Given the description of an element on the screen output the (x, y) to click on. 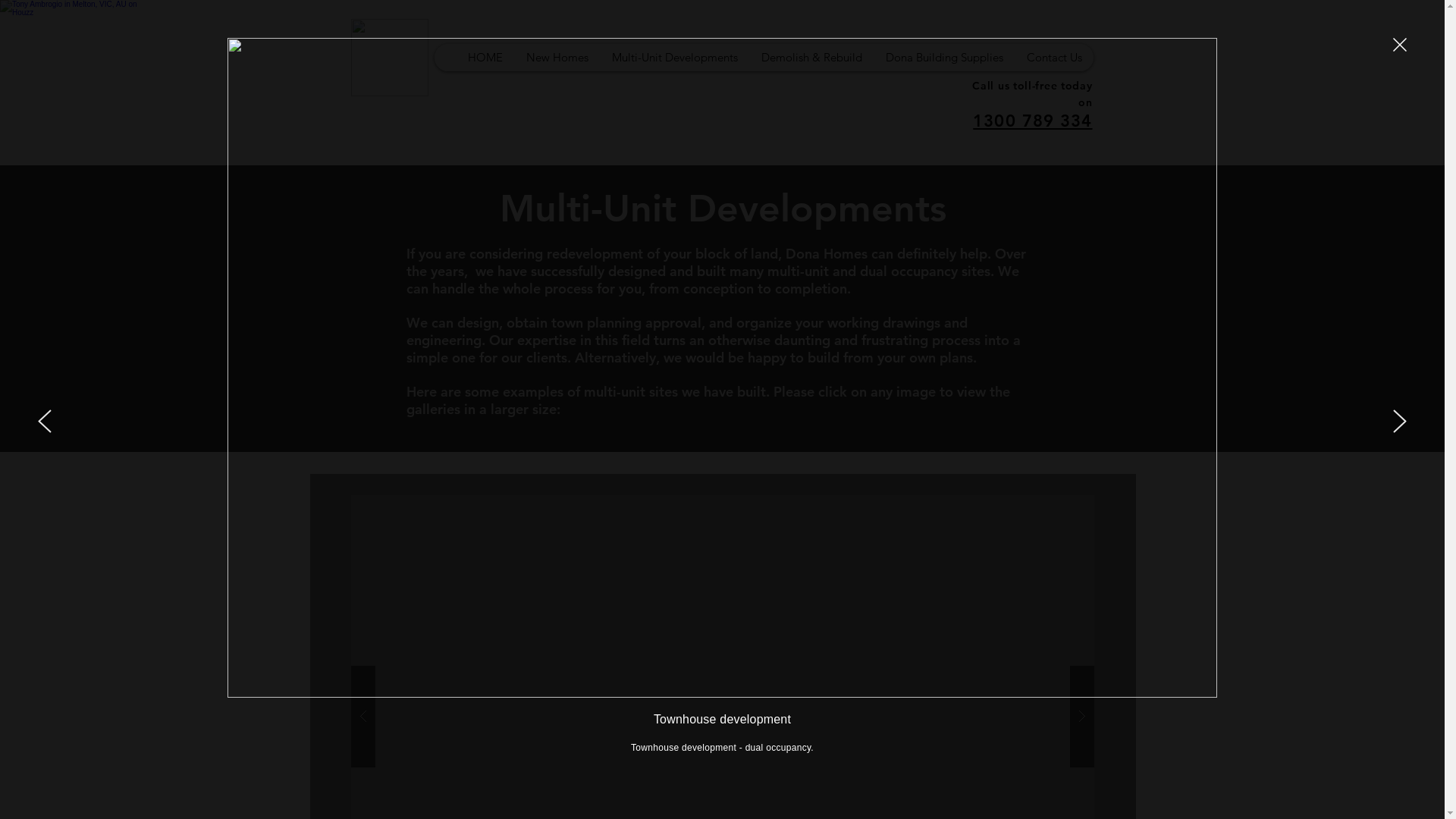
Demolish & Rebuild Element type: text (811, 57)
HOME Element type: text (484, 57)
Contact Us Element type: text (1053, 57)
New Homes Element type: text (556, 57)
Dona Building Supplies Element type: text (943, 57)
1300 789 334 Element type: text (1032, 120)
Multi-Unit Developments Element type: text (673, 57)
